Given the description of an element on the screen output the (x, y) to click on. 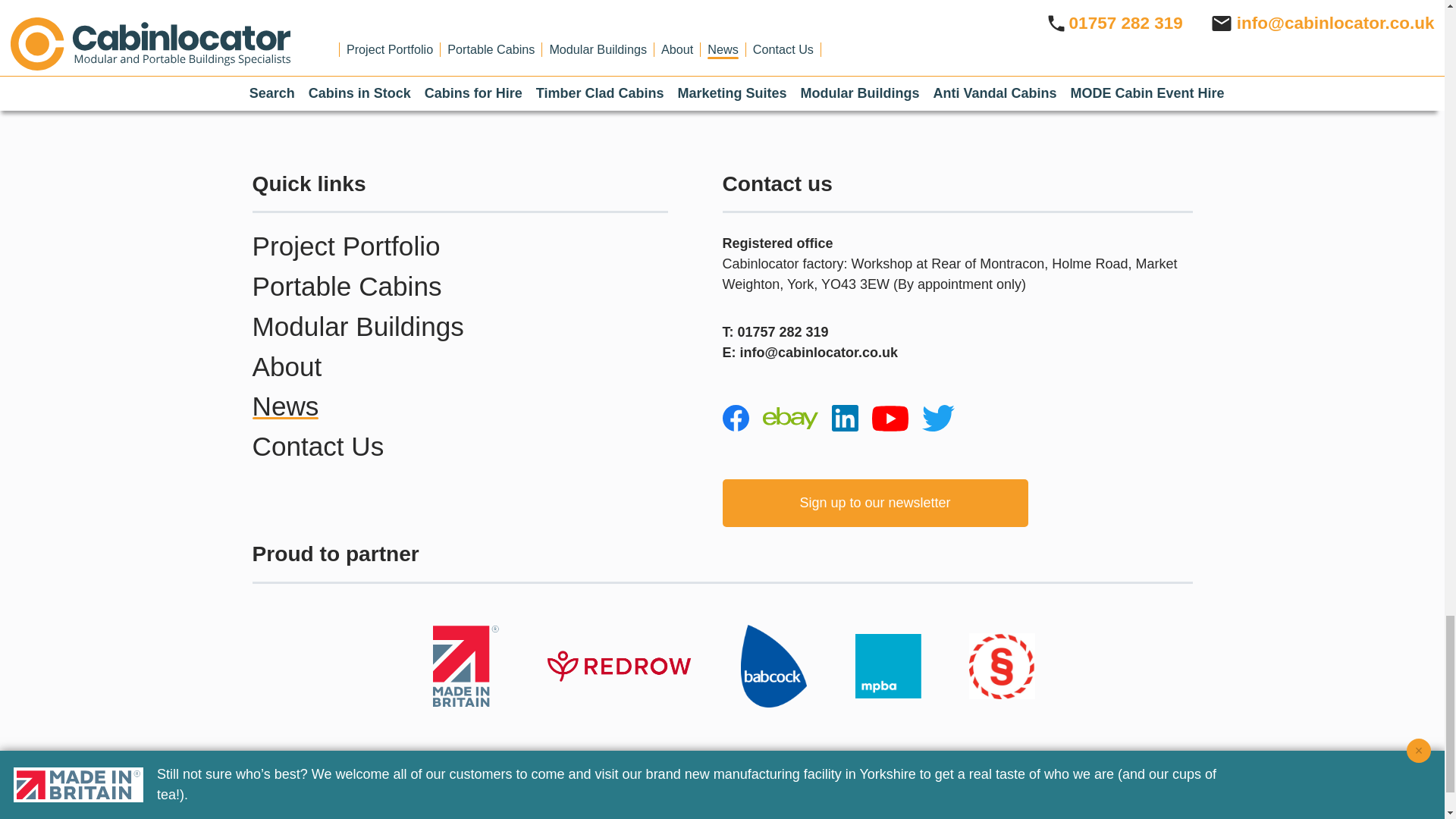
YouTube icon (890, 418)
LinkedIn icon (844, 417)
Twitter icon (938, 418)
eBay icon (790, 417)
Facebook icon (735, 417)
